Given the description of an element on the screen output the (x, y) to click on. 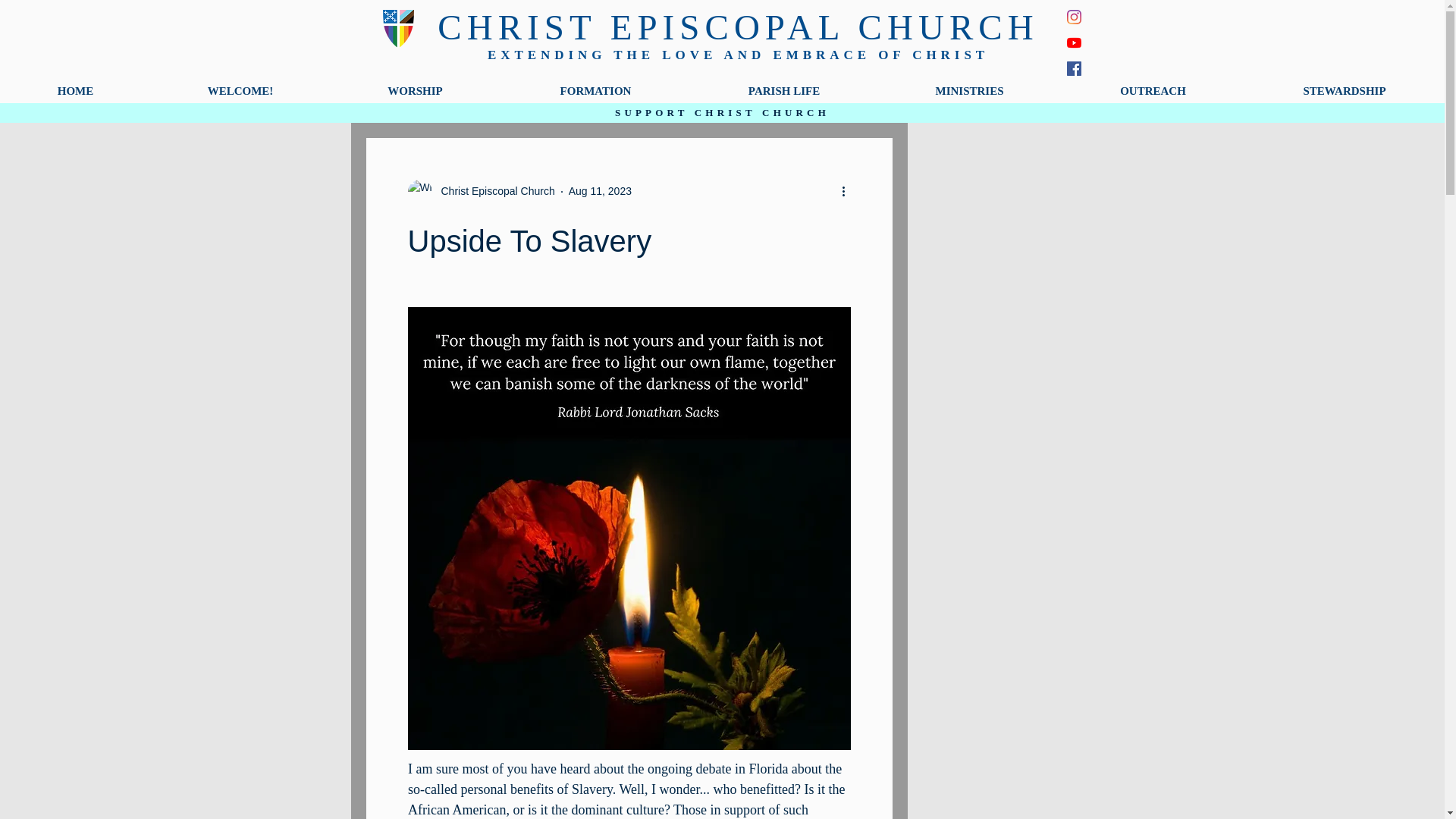
FORMATION (595, 90)
HOME (75, 90)
PARISH LIFE (783, 90)
WORSHIP (415, 90)
Aug 11, 2023 (600, 191)
OUTREACH (1152, 90)
Christ Episcopal Church (493, 191)
MINISTRIES (969, 90)
WELCOME! (240, 90)
EXTENDING THE LOVE AND EMBRACE OF CHRIST (737, 54)
CHRIST EPISCOPAL CHURCH (738, 26)
